Given the description of an element on the screen output the (x, y) to click on. 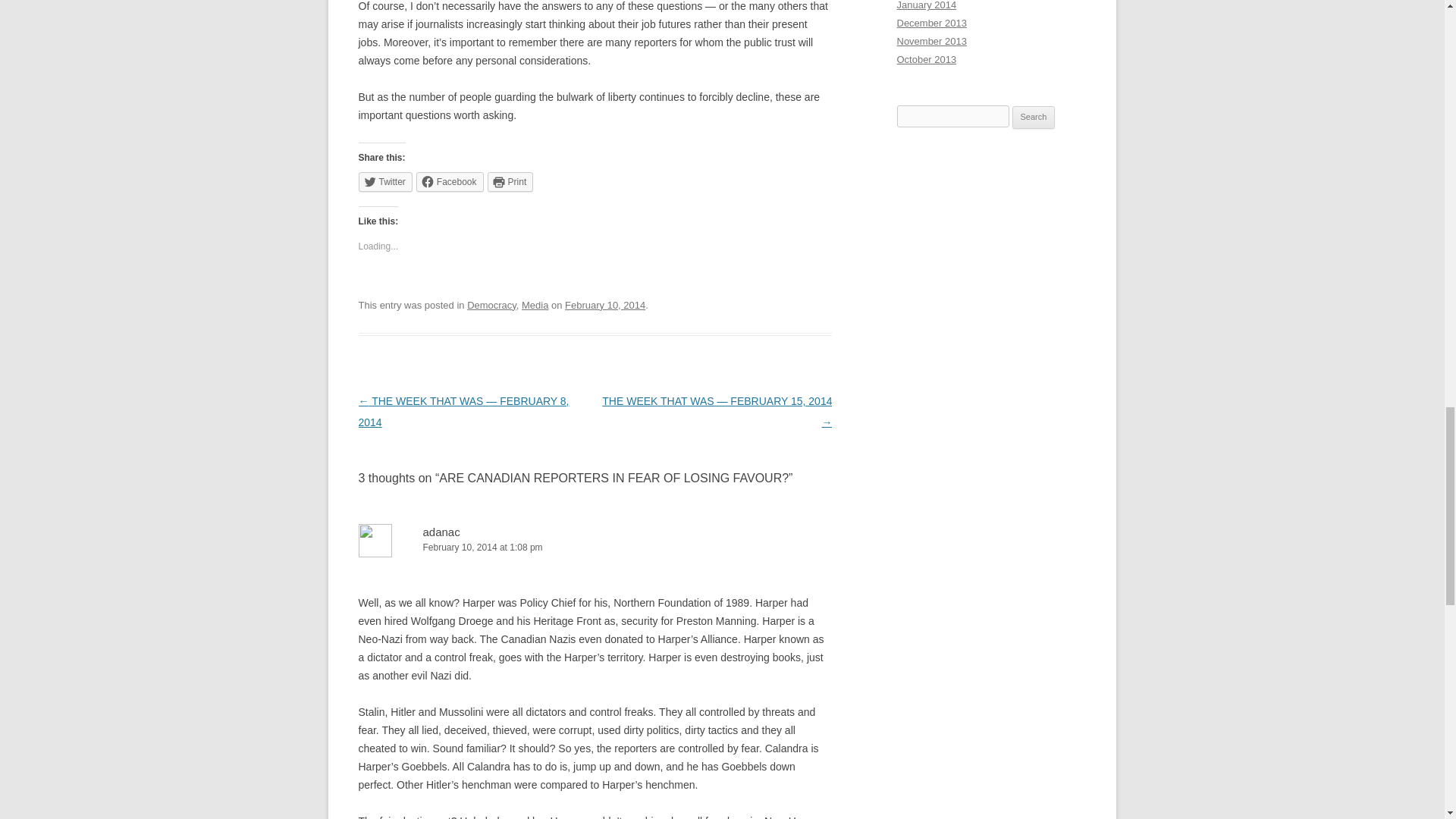
Democracy (491, 305)
Print (510, 181)
Click to share on Facebook (449, 181)
Click to share on Twitter (385, 181)
Media (534, 305)
Facebook (449, 181)
February 10, 2014 at 1:08 pm (594, 547)
Twitter (385, 181)
5:55 am (604, 305)
Click to print (510, 181)
February 10, 2014 (604, 305)
Search (1033, 117)
